Given the description of an element on the screen output the (x, y) to click on. 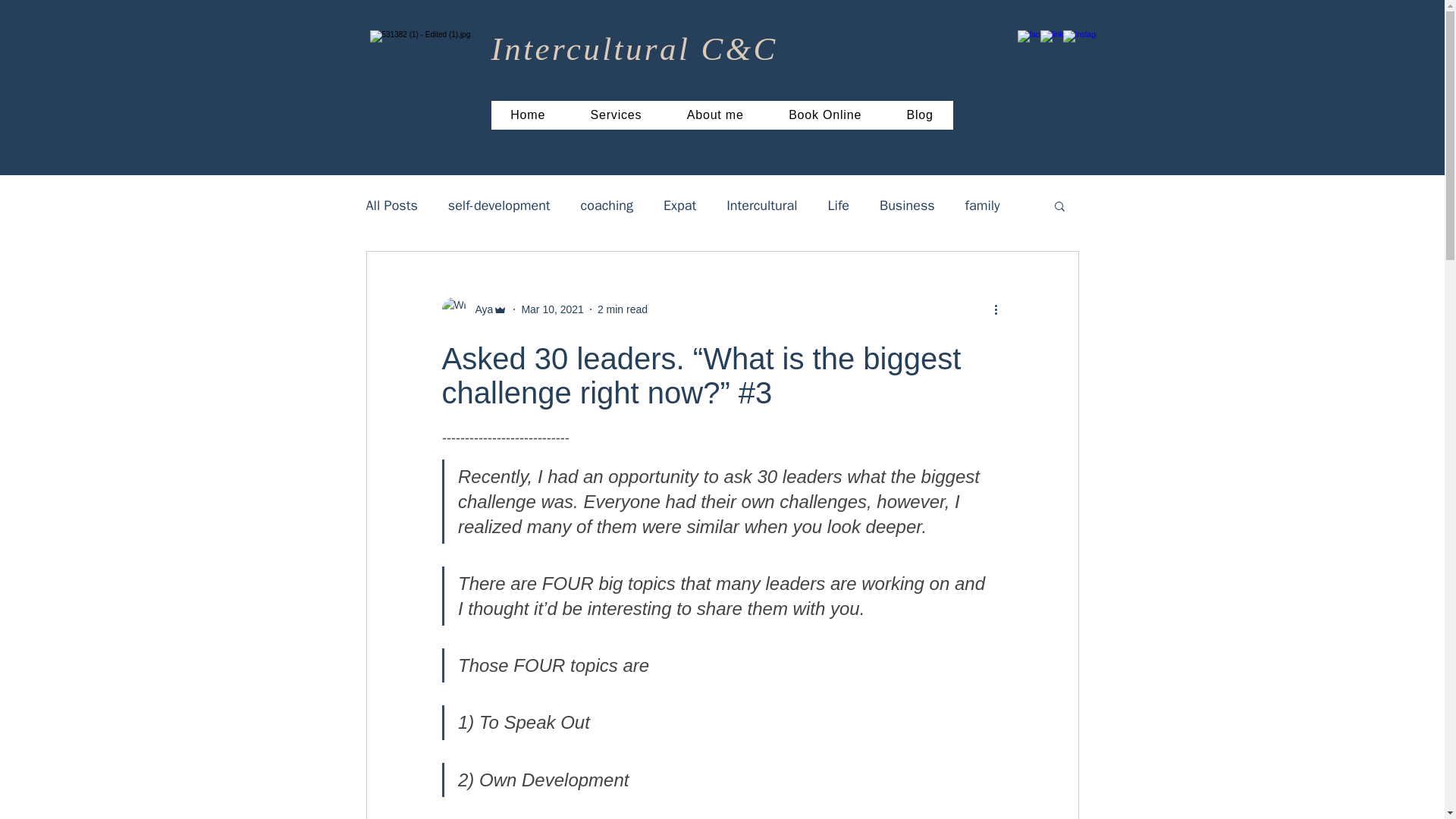
Blog (919, 114)
Life (838, 205)
Intercultural (761, 205)
2 min read (621, 309)
Aya (479, 309)
Home (528, 114)
self-development (499, 205)
All Posts (390, 205)
coaching (606, 205)
Business (906, 205)
Expat (679, 205)
Aya (473, 309)
family (982, 205)
Mar 10, 2021 (552, 309)
About me (714, 114)
